Given the description of an element on the screen output the (x, y) to click on. 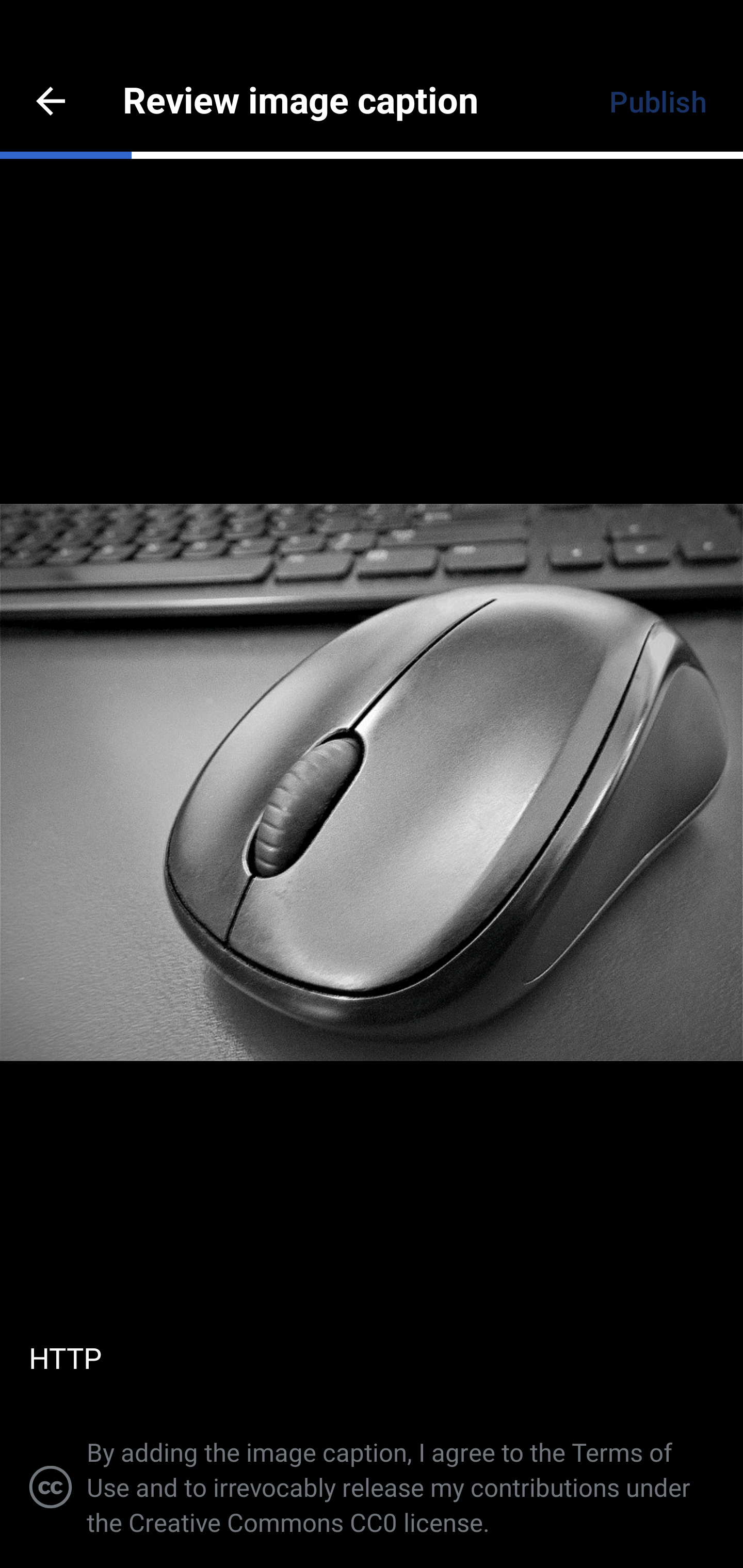
Cancel (50, 101)
Publish (657, 101)
